Given the description of an element on the screen output the (x, y) to click on. 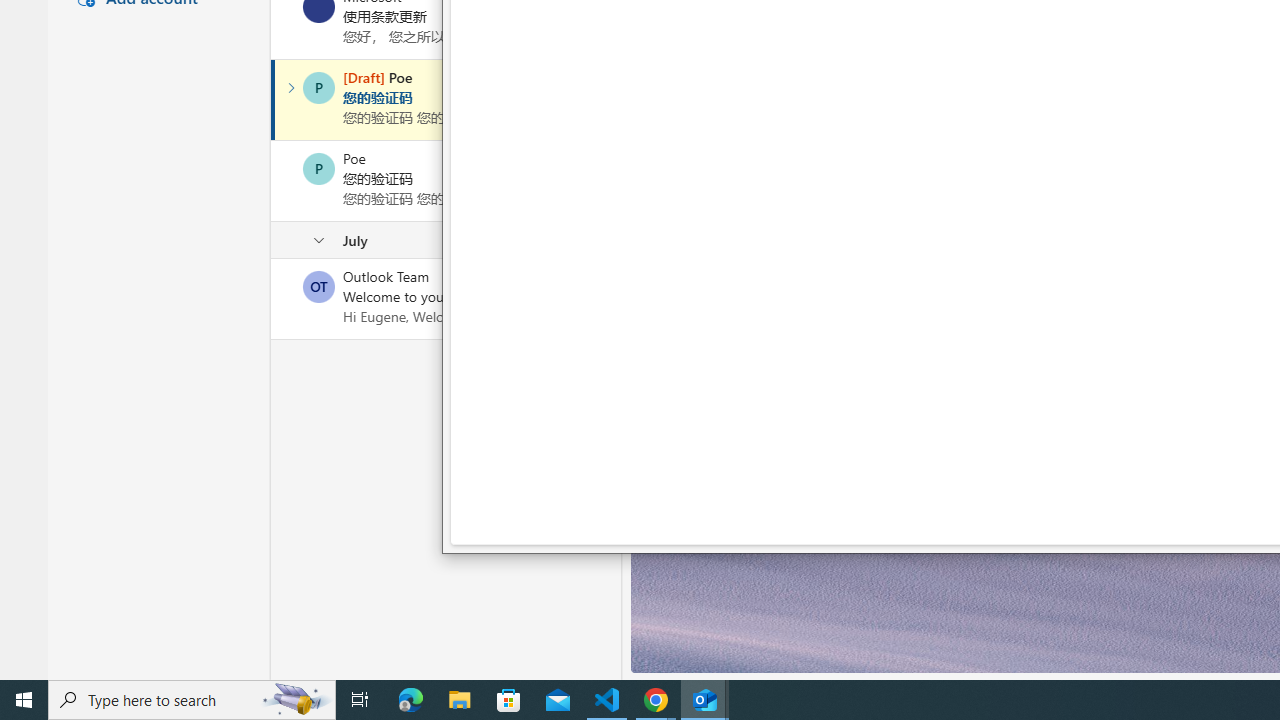
Mark as read (273, 99)
Google Chrome - 3 running windows (656, 699)
